Given the description of an element on the screen output the (x, y) to click on. 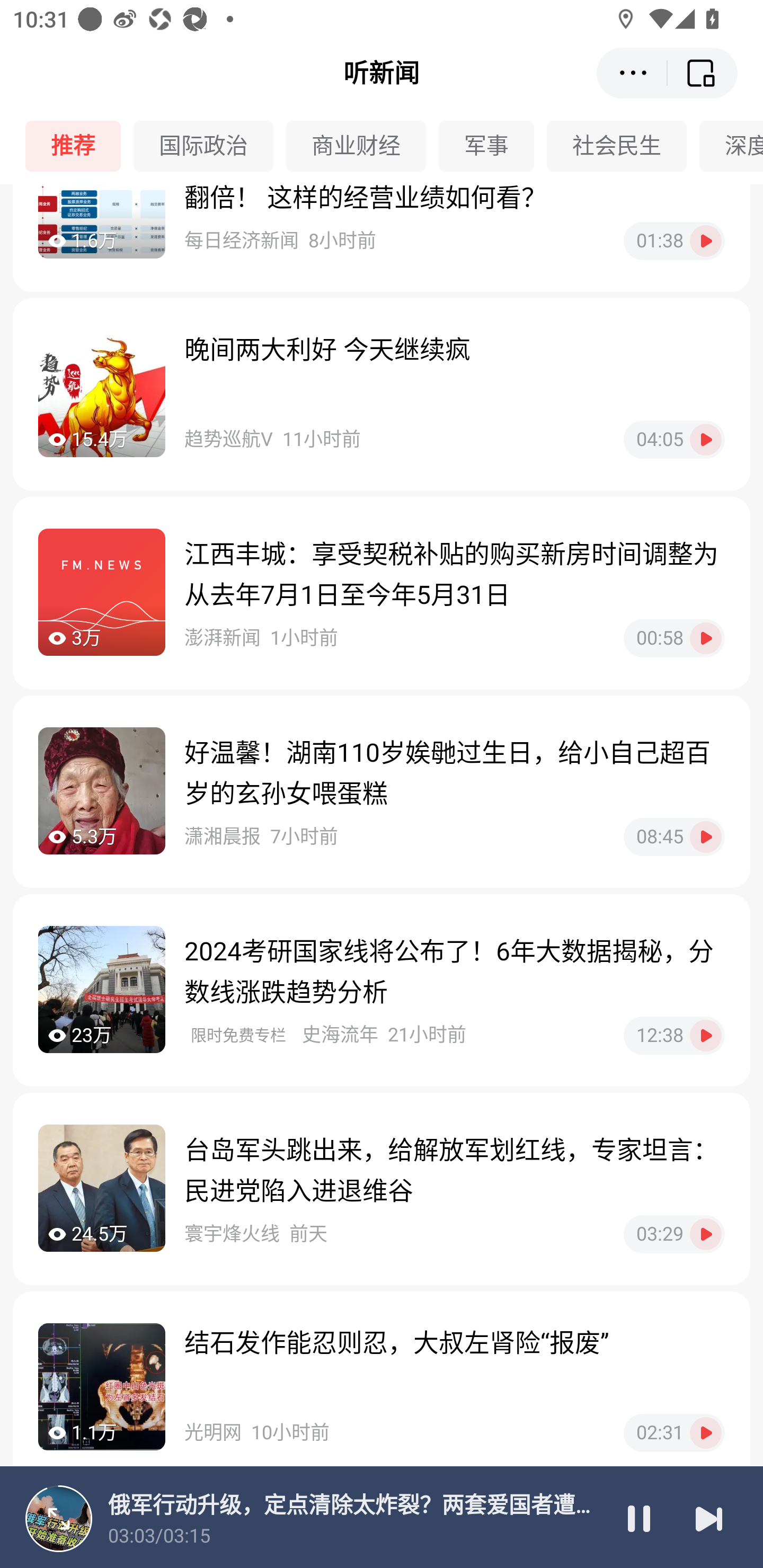
更多 (631, 72)
返回 (702, 72)
推荐 (79, 146)
国际政治 (209, 146)
商业财经 (362, 146)
军事 (492, 146)
社会民生 (623, 146)
01:38 (673, 241)
15.4万 晚间两大利好 今天继续疯 趋势巡航V11小时前 04:05 (381, 393)
04:05 (673, 439)
00:58 (673, 637)
5.3万 好温馨！湖南110岁娭毑过生日，给小自己超百岁的玄孙女喂蛋糕 潇湘晨报7小时前 08:45 (381, 791)
08:45 (673, 837)
12:38 (673, 1035)
24.5万 台岛军头跳出来，给解放军划红线，专家坦言：民进党陷入进退维谷 寰宇烽火线前天 03:29 (381, 1188)
03:29 (673, 1233)
1.1万 结石发作能忍则忍，大叔左肾险“报废” 光明网10小时前 02:31 (381, 1387)
02:31 (673, 1432)
暂停 (638, 1518)
下一篇 (708, 1518)
